Given the description of an element on the screen output the (x, y) to click on. 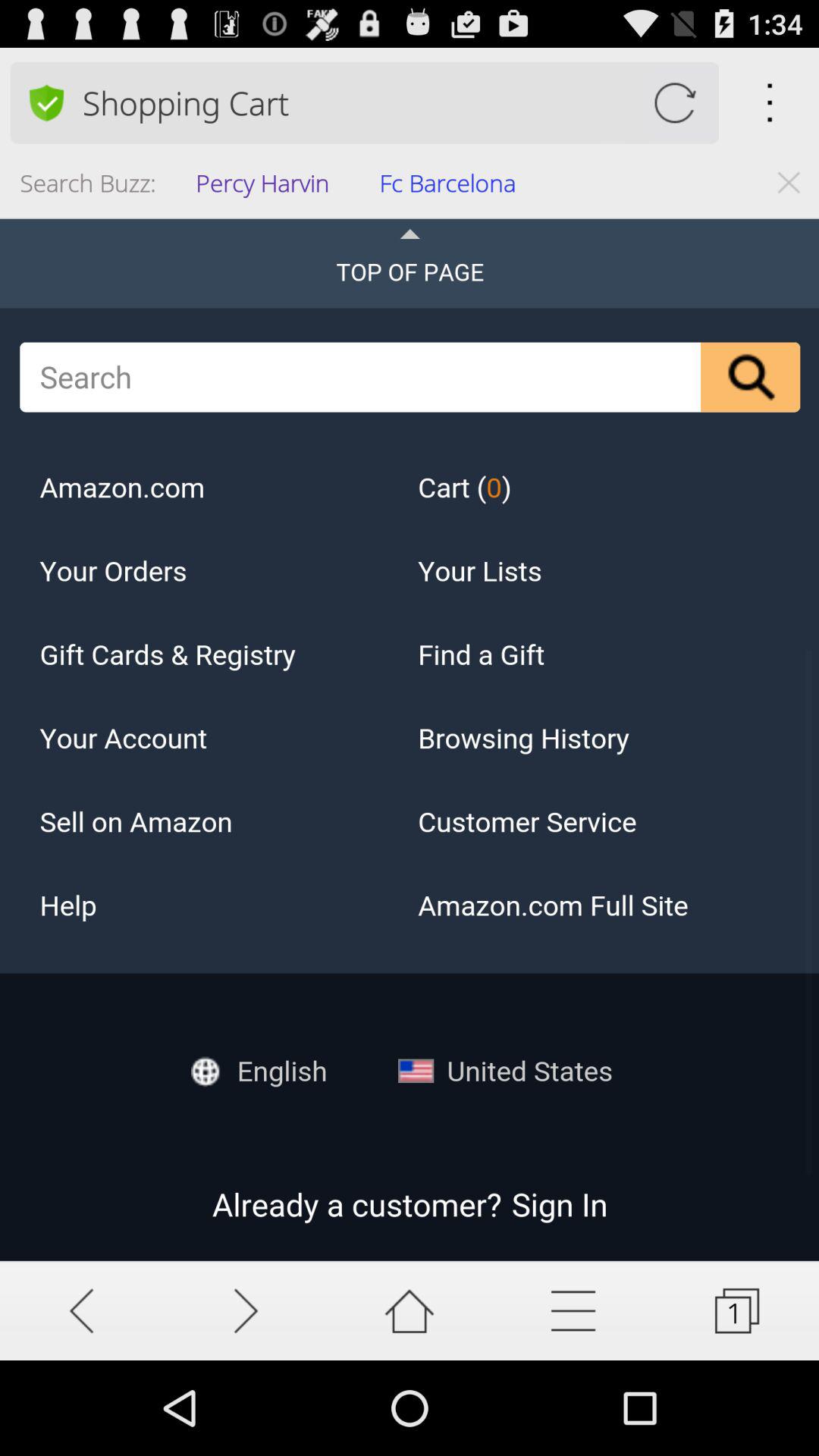
click the app below the shopping cart app (267, 187)
